Given the description of an element on the screen output the (x, y) to click on. 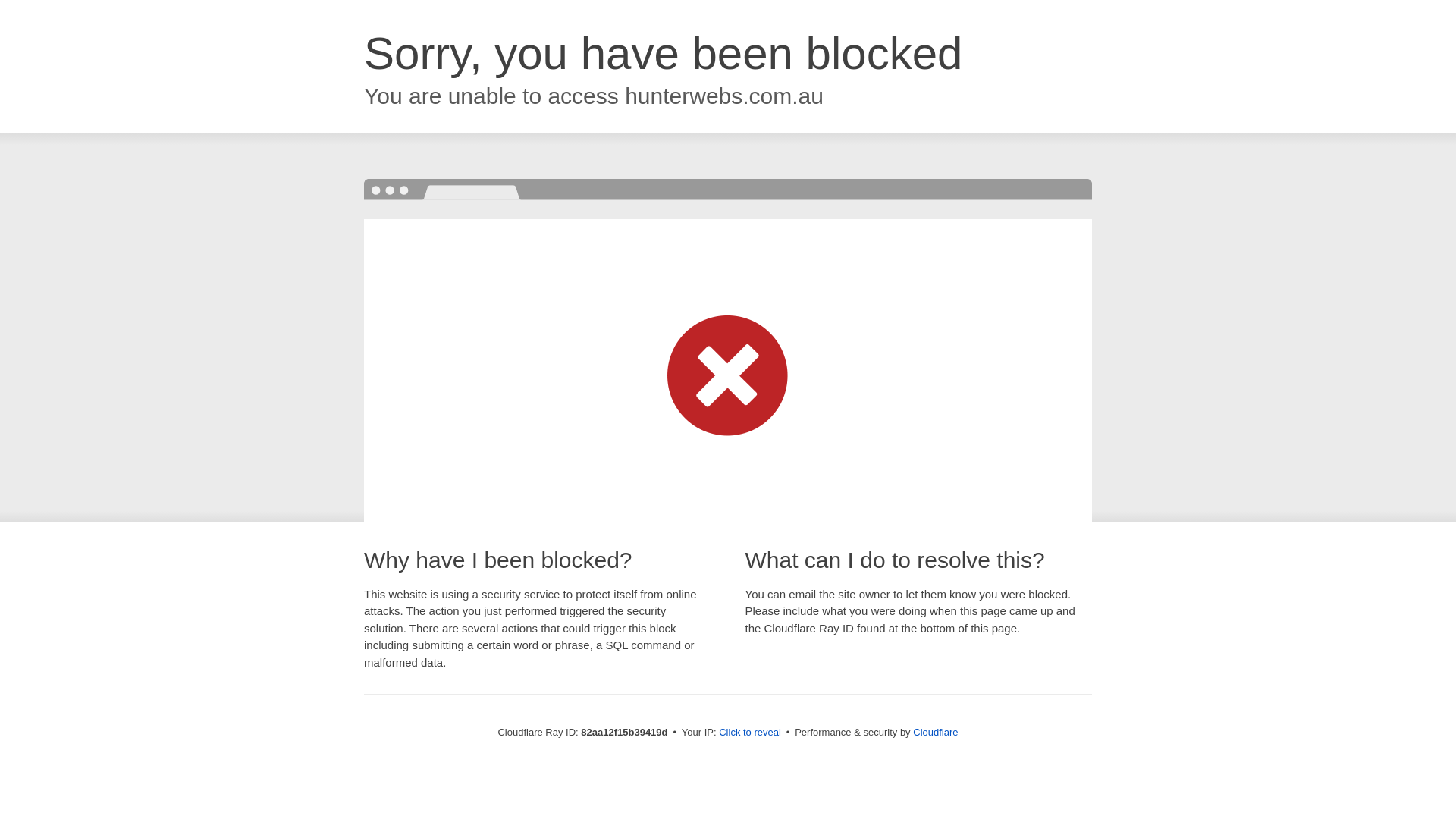
Click to reveal Element type: text (749, 732)
Cloudflare Element type: text (935, 731)
